Given the description of an element on the screen output the (x, y) to click on. 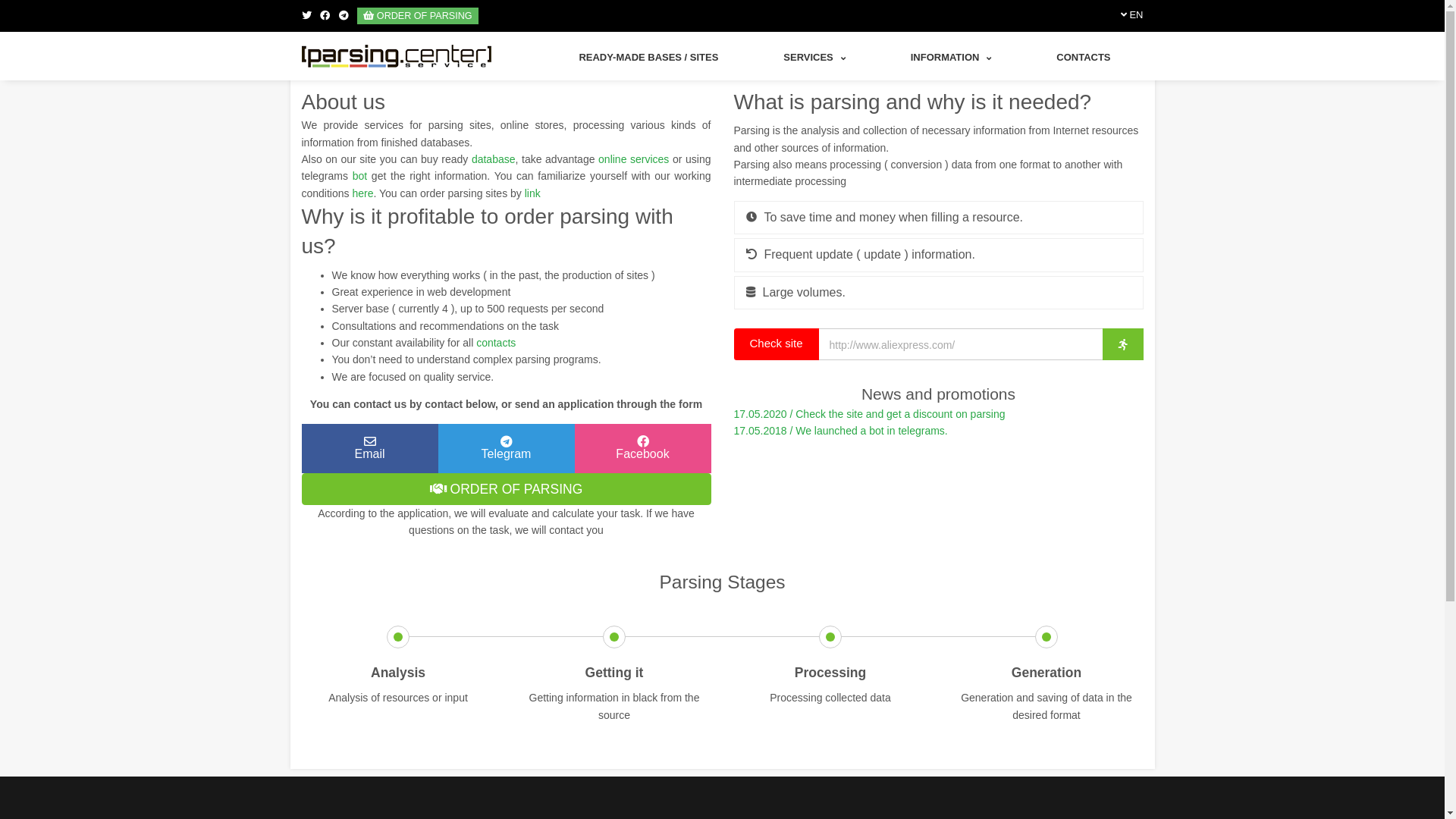
EN Element type: text (1135, 14)
INFORMATION Element type: text (950, 57)
Frequent update ( update ) information. Element type: text (938, 254)
Twitter Element type: hover (306, 15)
Email Element type: text (369, 448)
database Element type: text (493, 159)
ORDER OF PARSING Element type: text (506, 489)
bot Element type: text (359, 175)
CONTACTS Element type: text (1083, 57)
ORDER OF PARSING Element type: text (417, 15)
Facebook Element type: text (642, 448)
Telegram Element type: text (506, 448)
online services Element type: text (633, 159)
Large volumes. Element type: text (938, 291)
READY-MADE BASES / SITES Element type: text (647, 57)
To save time and money when filling a resource. Element type: text (938, 217)
link Element type: text (532, 193)
17.05.2020 / Check the site and get a discount on parsing Element type: text (869, 413)
Telegram Element type: hover (343, 15)
contacts Element type: text (495, 342)
here Element type: text (362, 193)
SERVICES Element type: text (813, 57)
17.05.2018 / We launched a bot in telegrams. Element type: text (840, 430)
Facebook Element type: hover (324, 15)
